Given the description of an element on the screen output the (x, y) to click on. 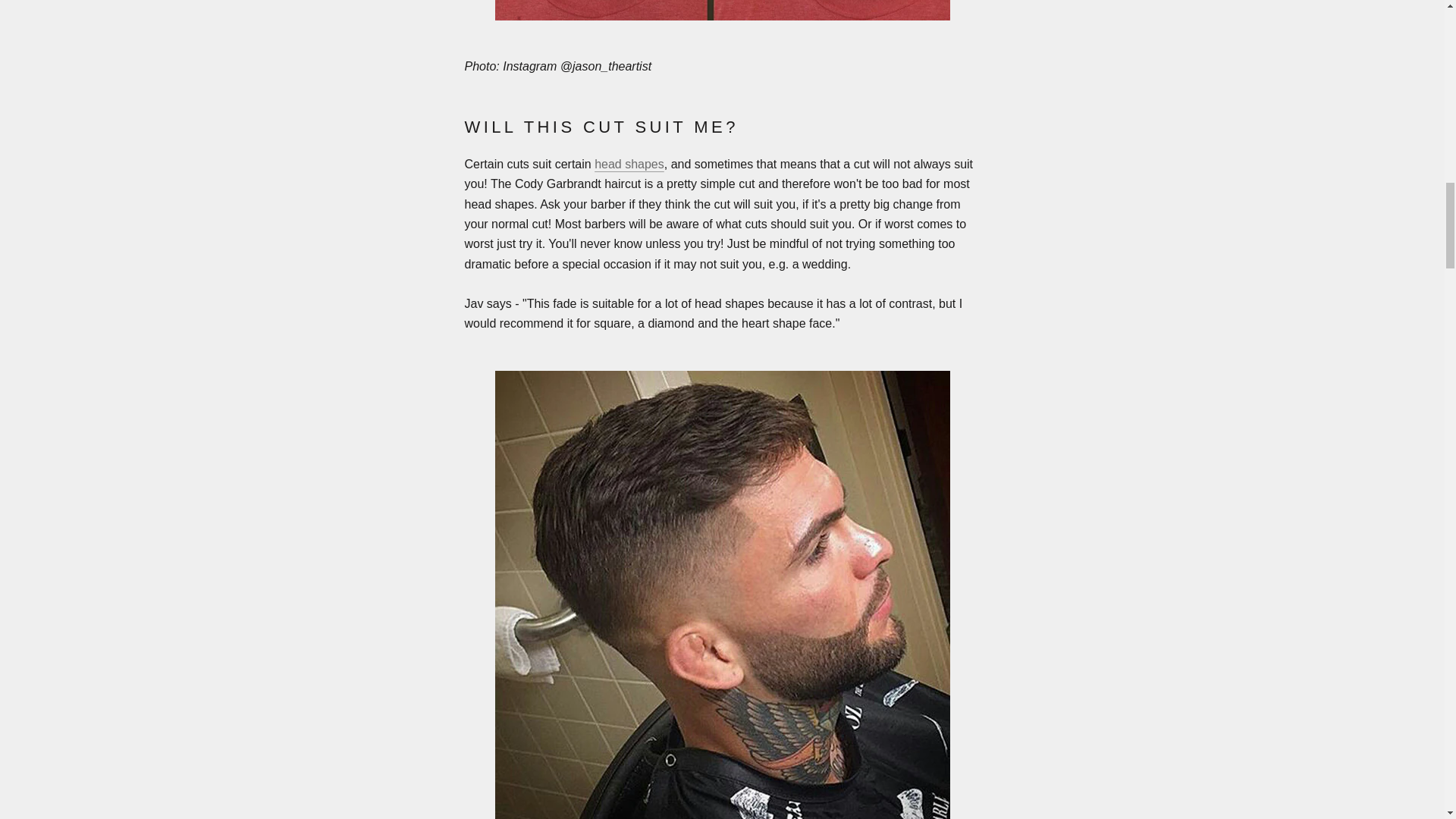
What Is My Face Shape? How To Find Your Face Shape For Men (628, 164)
